Given the description of an element on the screen output the (x, y) to click on. 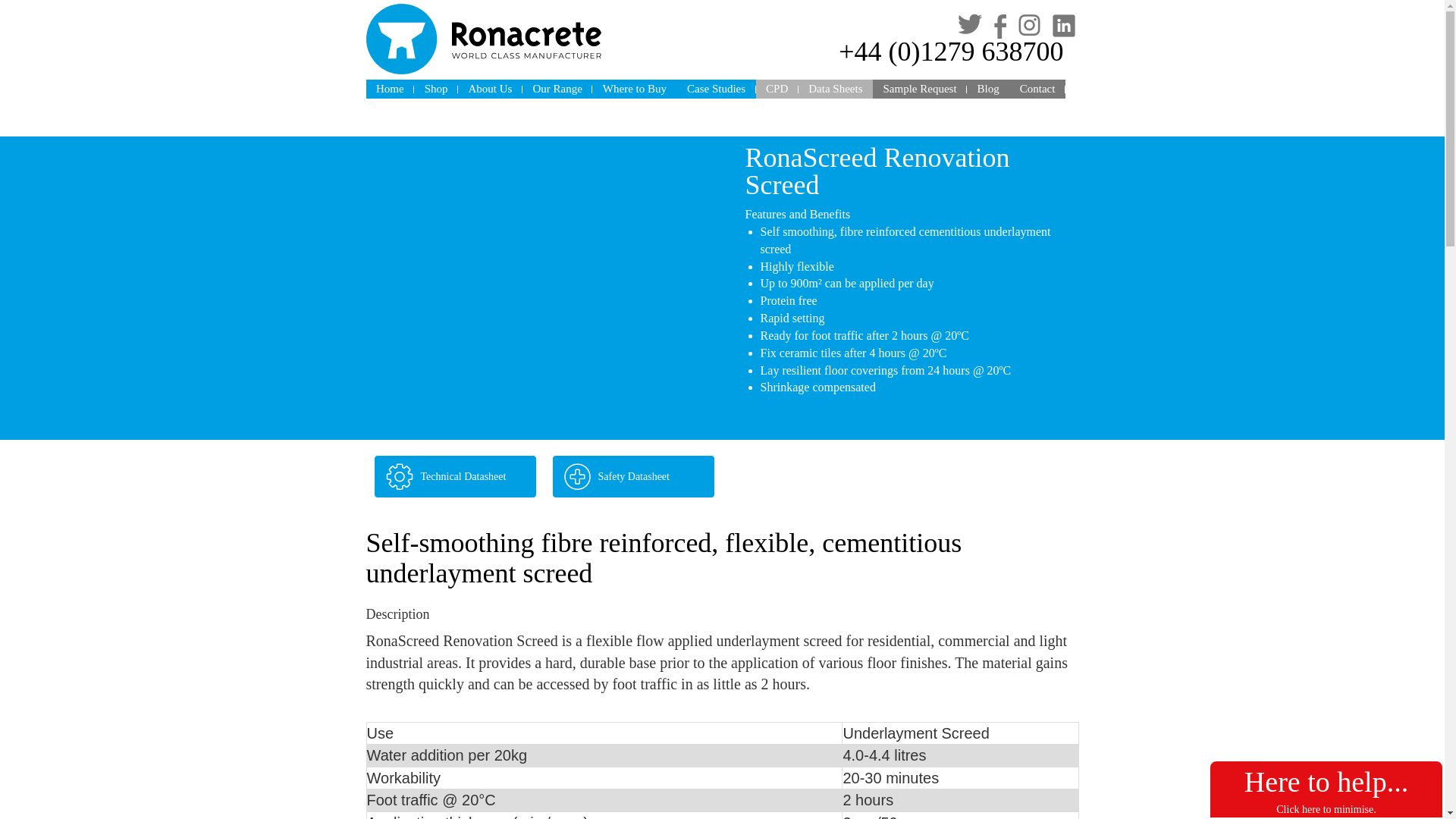
Where to Buy (634, 88)
Case Studies (716, 88)
Home (389, 88)
CPD (776, 88)
Our Range (557, 88)
Contact (1037, 88)
Shop (435, 88)
Blog (987, 88)
Data Sheets (834, 88)
About Us (490, 88)
Ronacrete (482, 39)
Sample Request (919, 88)
